Given the description of an element on the screen output the (x, y) to click on. 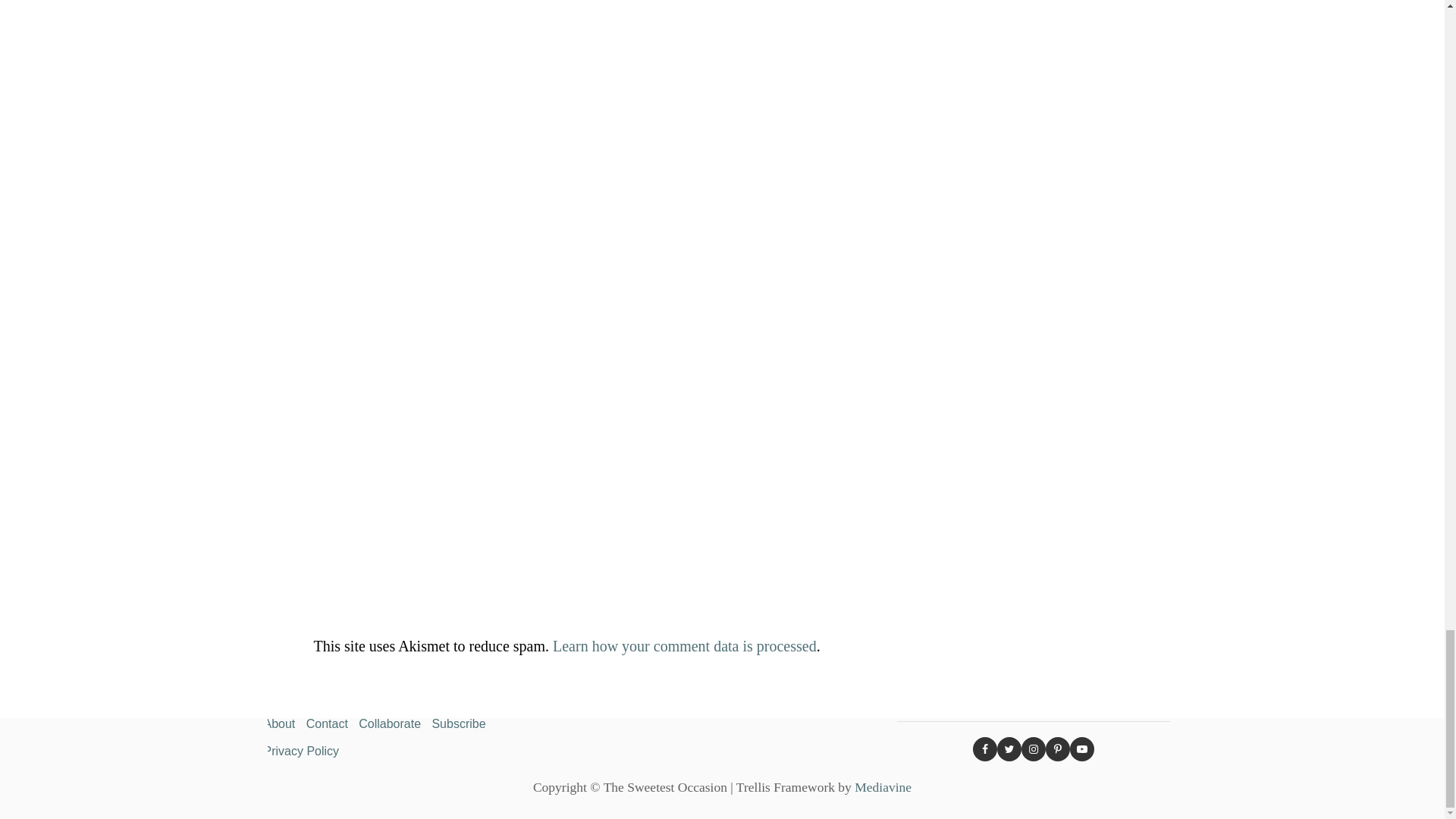
Follow on Pinterest (1056, 749)
Follow on Twitter (1007, 749)
Follow on Facebook (983, 749)
Follow on YouTube (1080, 749)
Follow on Instagram (1032, 749)
